Given the description of an element on the screen output the (x, y) to click on. 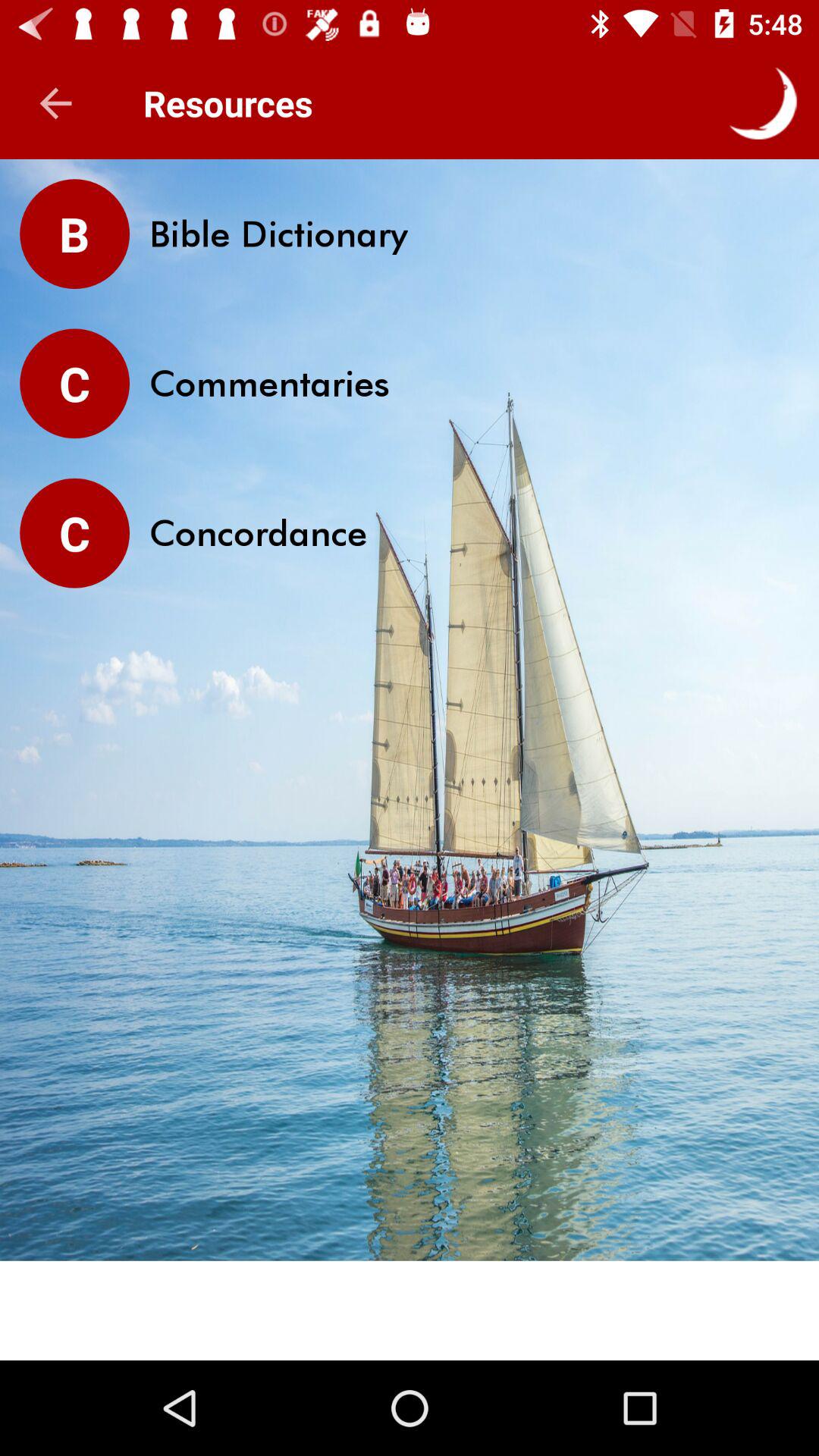
go back (55, 103)
